Given the description of an element on the screen output the (x, y) to click on. 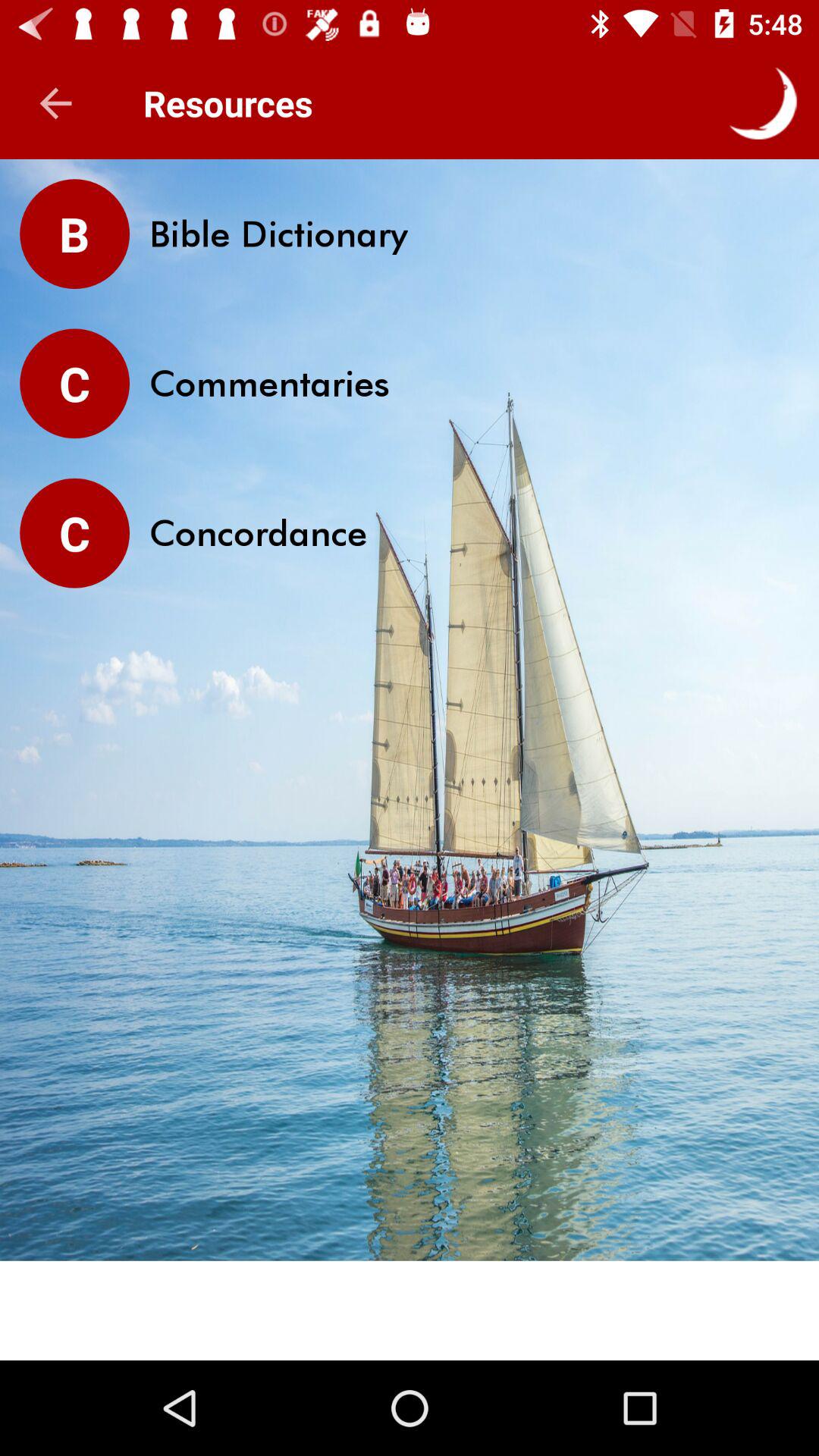
go back (55, 103)
